Given the description of an element on the screen output the (x, y) to click on. 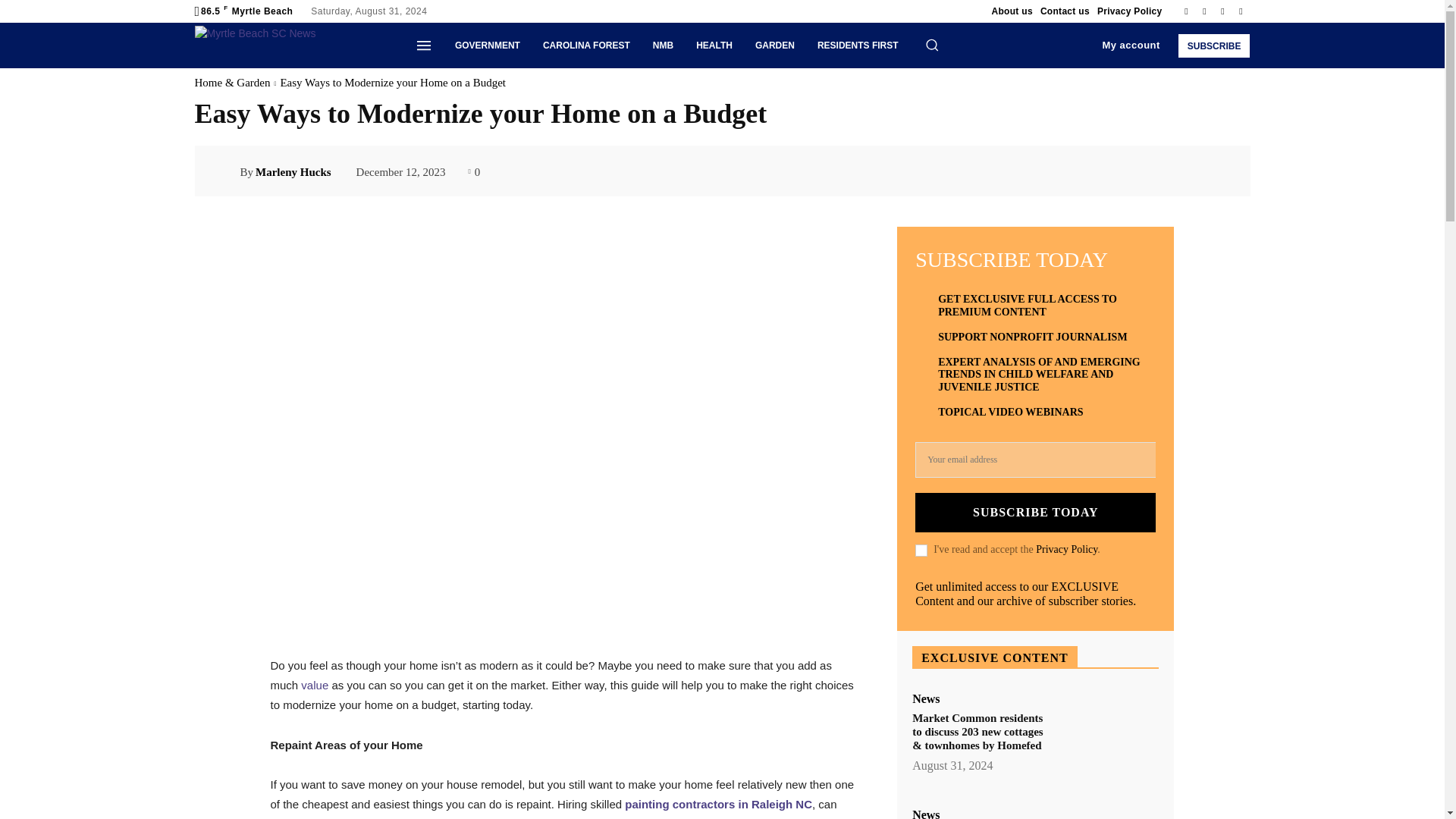
GOVERNMENT (487, 44)
About us (1011, 11)
Contact us (1065, 11)
HEALTH (714, 44)
CAROLINA FOREST (586, 44)
Twitter (1221, 11)
Instagram (1203, 11)
GARDEN (775, 44)
NMB (663, 44)
RESIDENTS FIRST (858, 44)
